Given the description of an element on the screen output the (x, y) to click on. 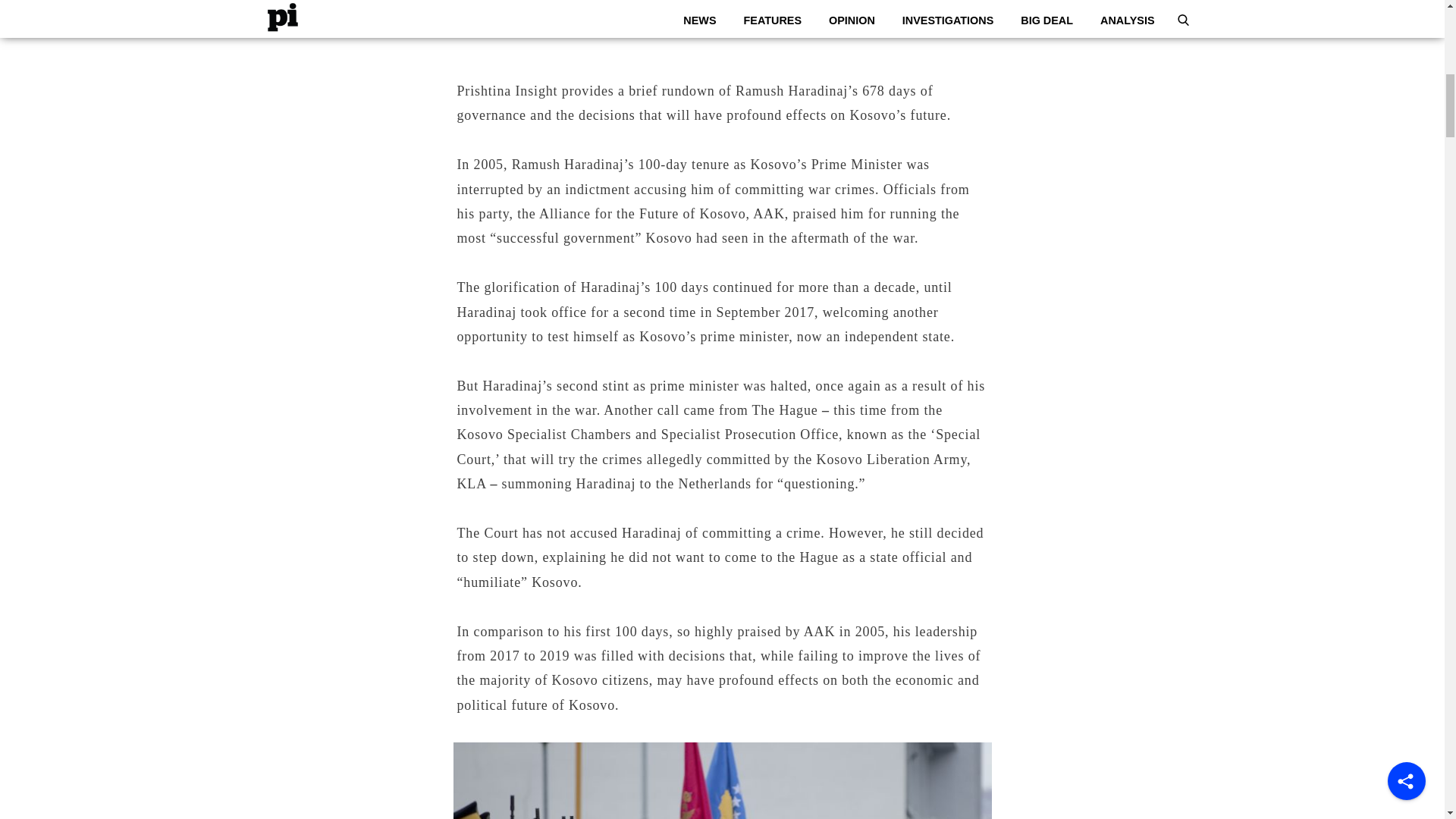
Eraldin Fazliu (733, 4)
Posts by Eraldin Fazliu (733, 4)
